Given the description of an element on the screen output the (x, y) to click on. 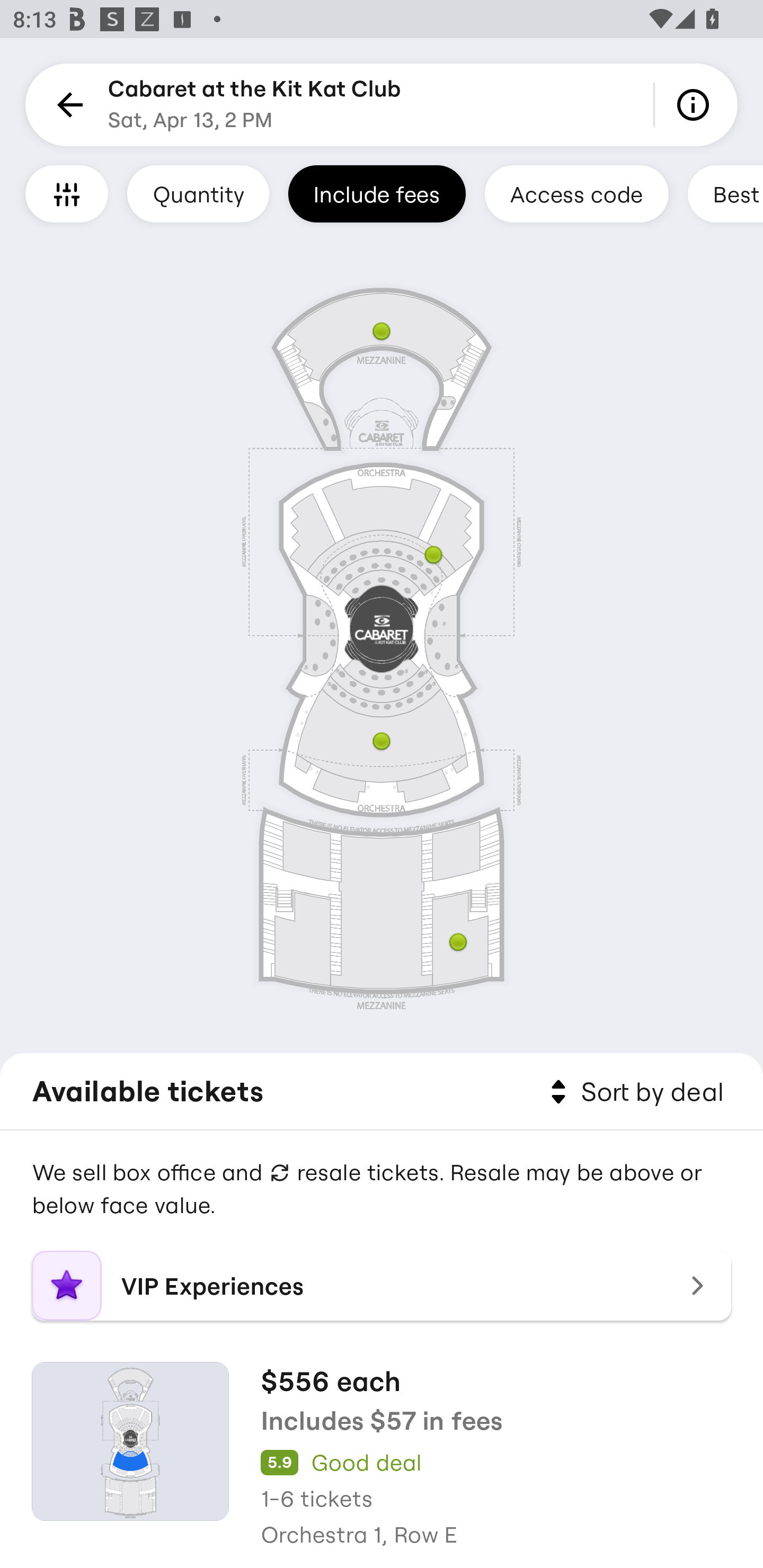
Back (66, 104)
Cabaret at the Kit Kat Club Sat, Apr 13, 2 PM (254, 104)
Info (695, 104)
Filters and Accessible Seating (66, 193)
Quantity (198, 193)
Include fees (376, 193)
Access code (576, 193)
Sort by deal (633, 1091)
VIP Experiences (381, 1285)
